Given the description of an element on the screen output the (x, y) to click on. 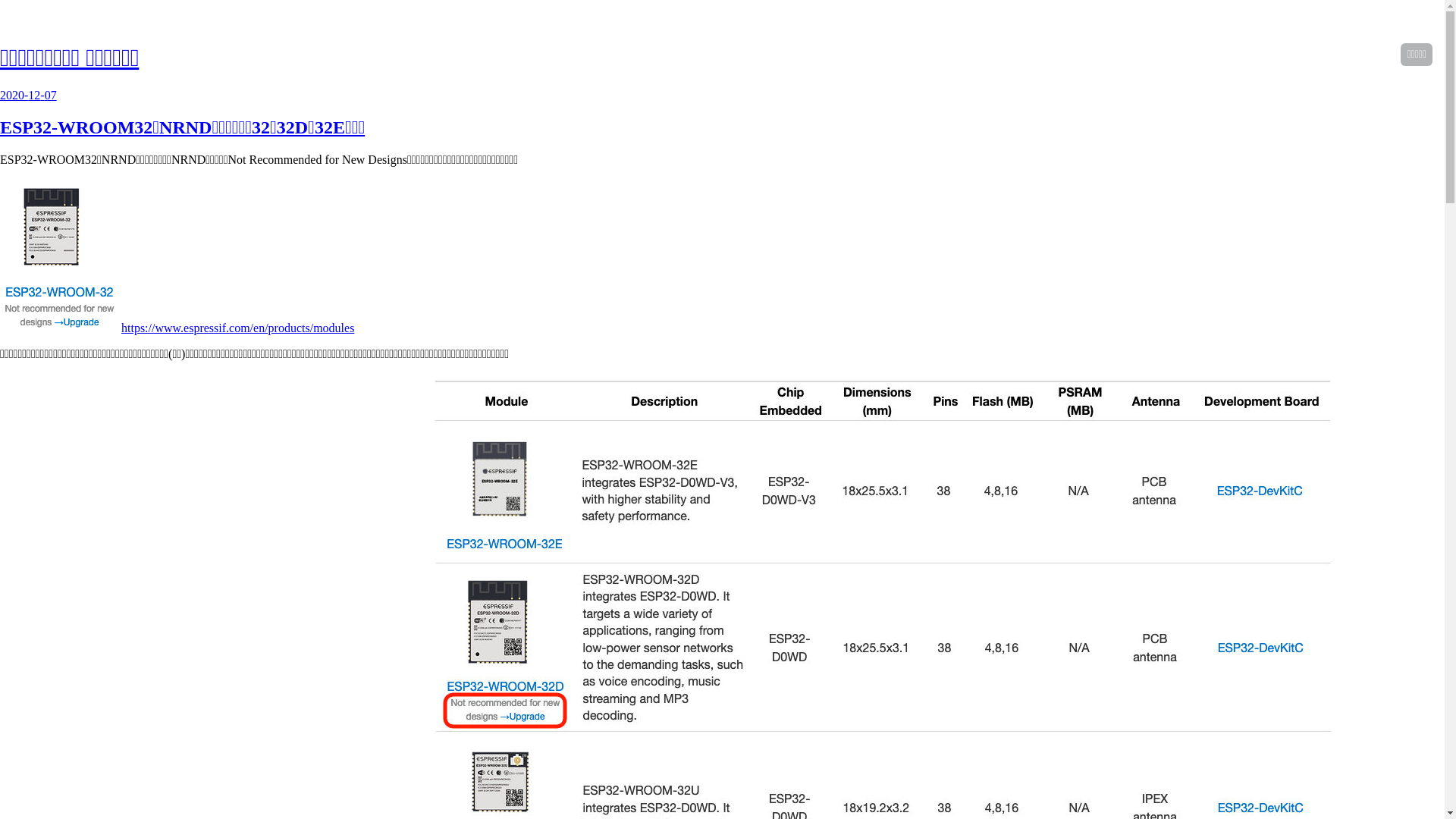
https://www.espressif.com/en/products/modules Element type: text (237, 327)
2020-12-07 Element type: text (28, 94)
